Given the description of an element on the screen output the (x, y) to click on. 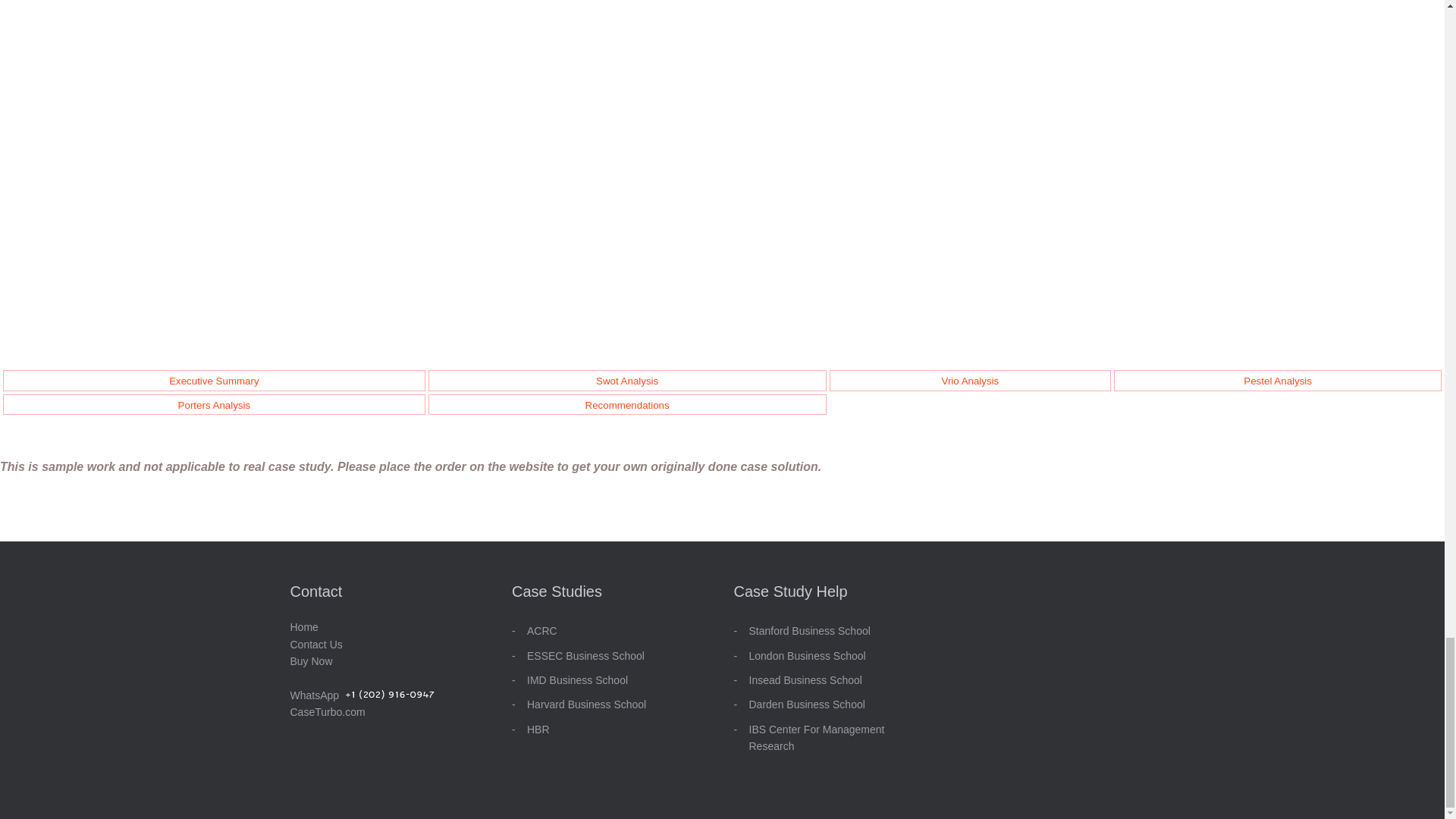
Pestel Analysis (1277, 380)
Harvard Business School (586, 704)
Stanford Business School (809, 630)
Buy Now (310, 661)
Home (303, 626)
Vrio Analysis (969, 380)
Darden Business School (806, 704)
IBS Center For Management Research (817, 737)
HBR (538, 729)
Porters Analysis (213, 405)
Executive Summary (213, 380)
London Business School (807, 655)
Swot Analysis (626, 380)
CaseTurbo.com (327, 711)
Insead Business School (805, 680)
